Given the description of an element on the screen output the (x, y) to click on. 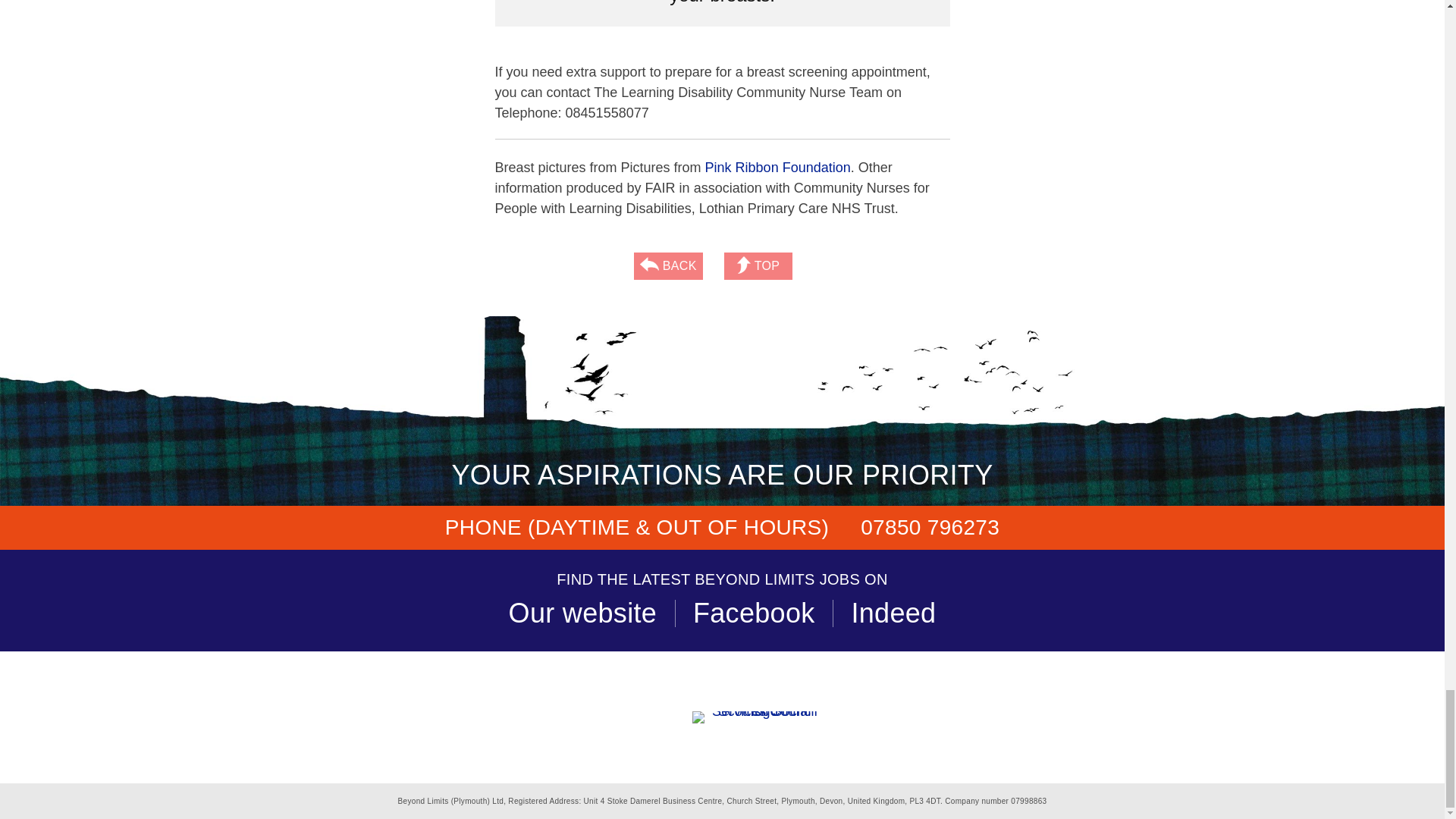
Pink Ribbon Foundation (777, 167)
BACK (668, 266)
Our website (583, 612)
TOP (757, 266)
Indeed (893, 612)
Facebook (754, 612)
